Given the description of an element on the screen output the (x, y) to click on. 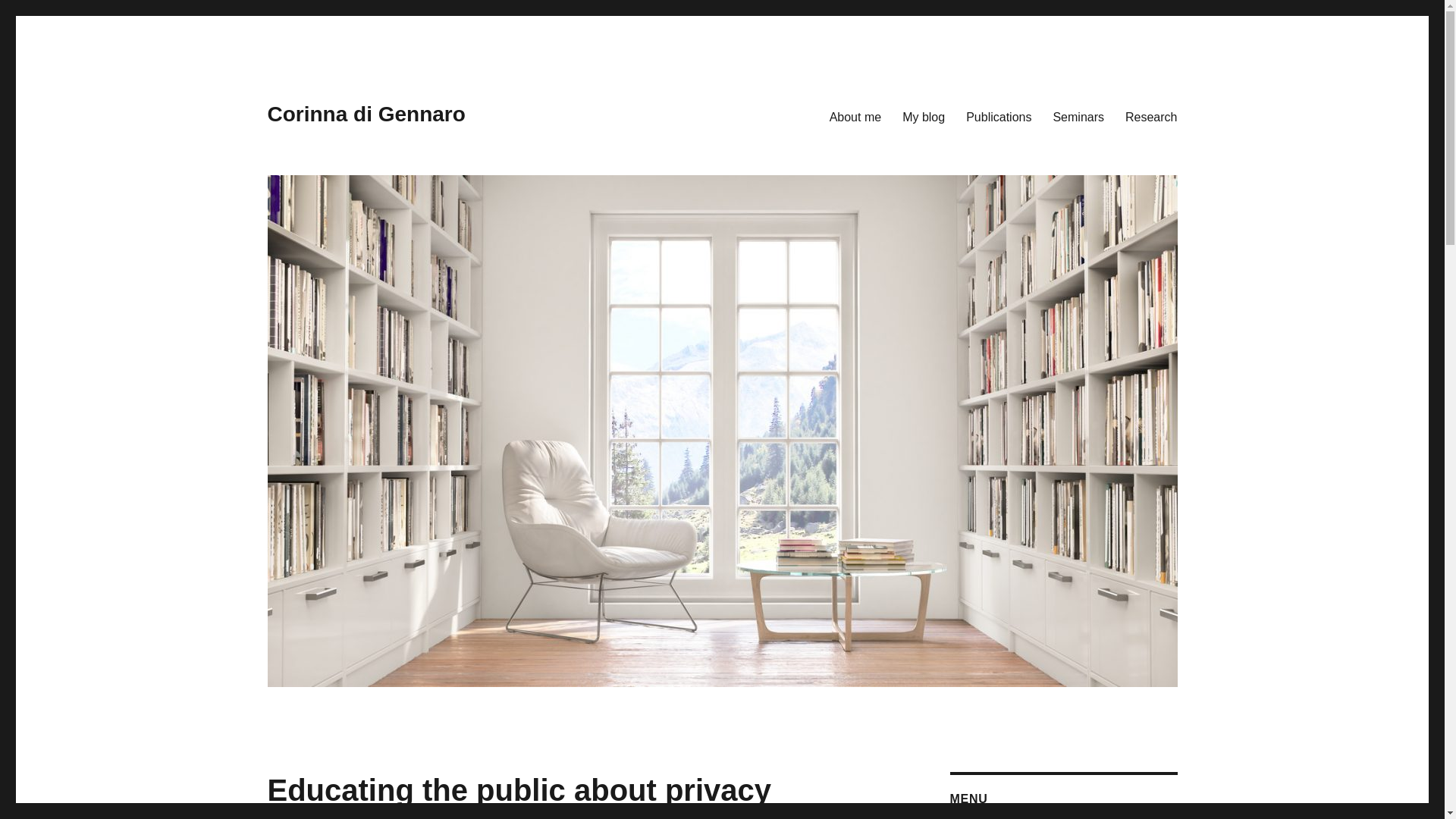
Publications (998, 116)
About me (854, 116)
My blog (923, 116)
Corinna di Gennaro (365, 114)
Research (1151, 116)
Seminars (1078, 116)
